Given the description of an element on the screen output the (x, y) to click on. 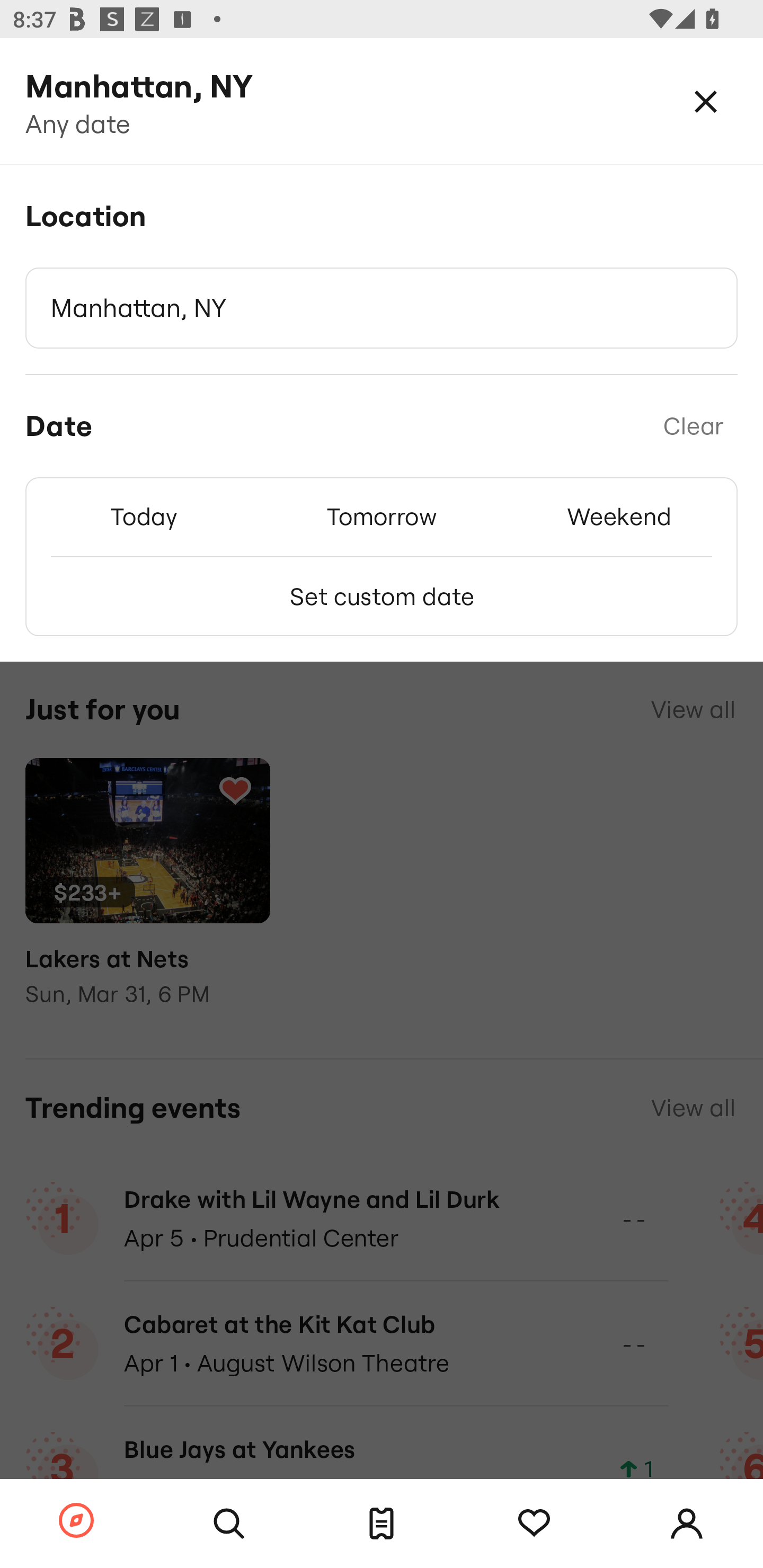
Close (705, 100)
Manhattan, NY (381, 308)
Clear (693, 426)
Today (143, 516)
Tomorrow (381, 516)
Weekend (618, 516)
Set custom date (381, 596)
Browse (76, 1521)
Search (228, 1523)
Tickets (381, 1523)
Tracking (533, 1523)
Account (686, 1523)
